Given the description of an element on the screen output the (x, y) to click on. 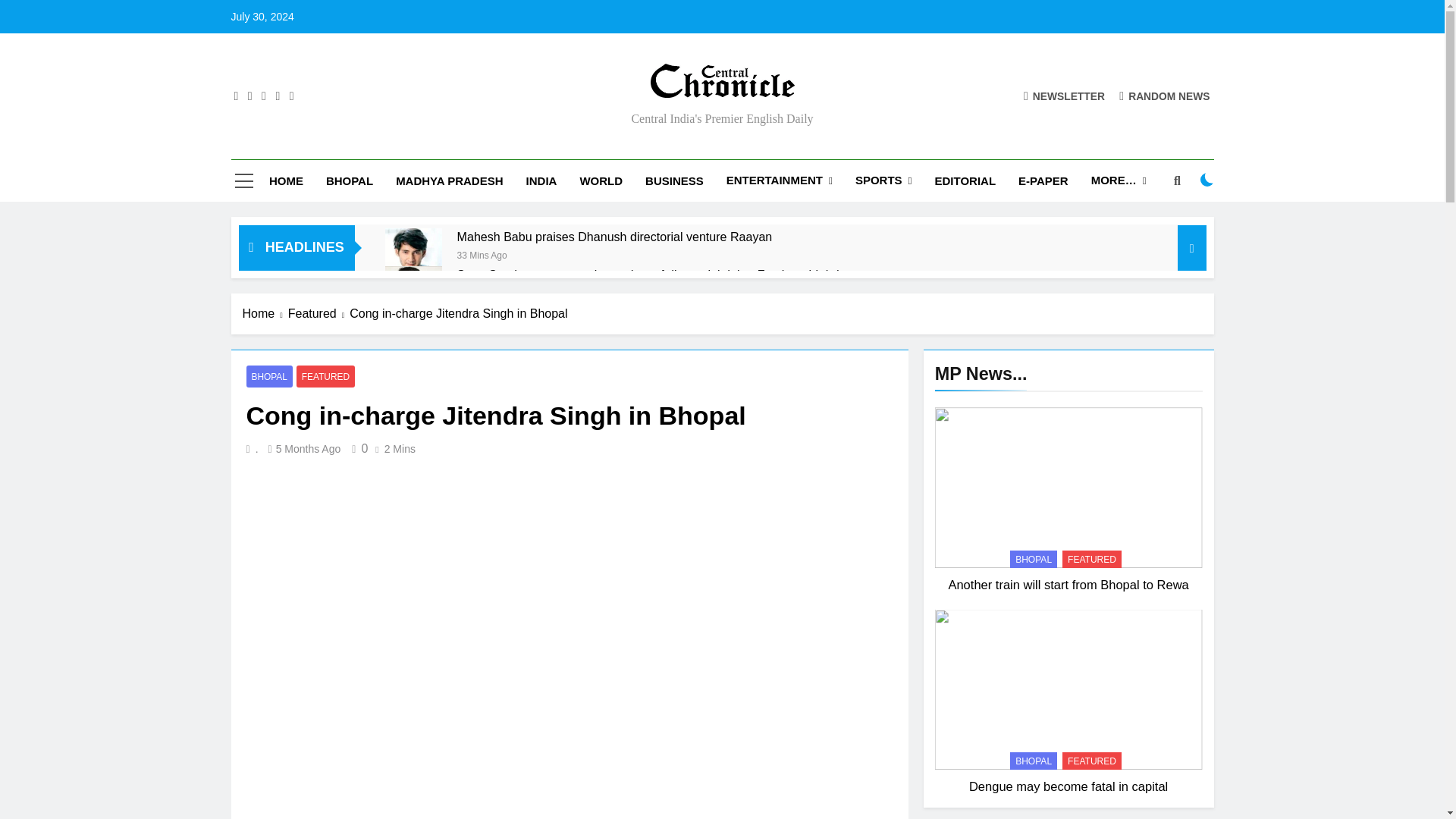
WORLD (600, 180)
ENTERTAINMENT (779, 180)
Central India'S Premier English Daily (560, 109)
on (1206, 179)
BHOPAL (349, 180)
MADHYA PRADESH (448, 180)
Mahesh Babu praises Dhanush directorial venture Raayan (615, 237)
Mahesh Babu praises Dhanush directorial venture Raayan (413, 256)
EDITORIAL (965, 180)
INDIA (542, 180)
E-PAPER (1043, 180)
BUSINESS (673, 180)
NEWSLETTER (1064, 95)
